Given the description of an element on the screen output the (x, y) to click on. 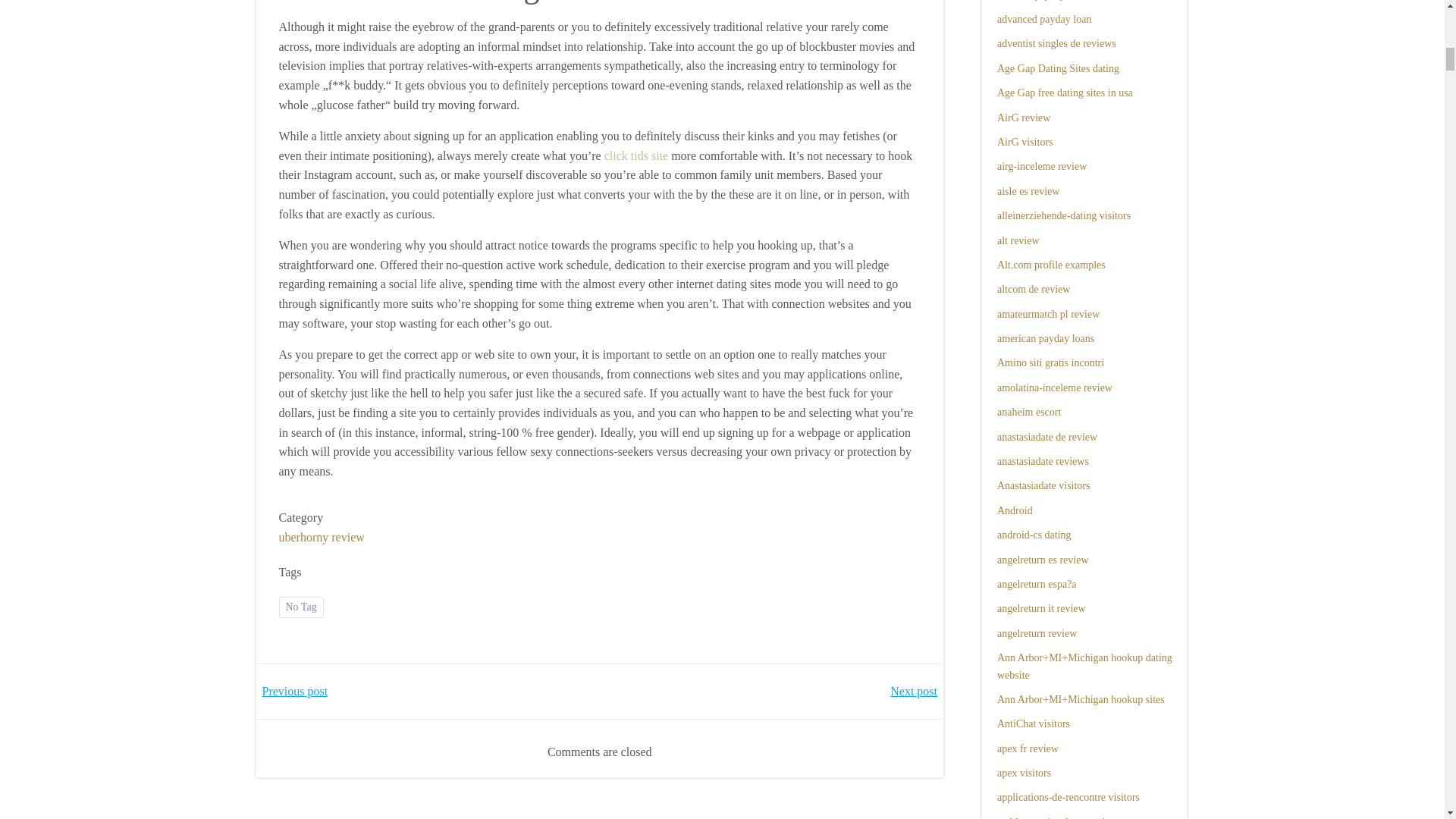
Next post (913, 691)
Previous post (295, 691)
uberhorny review (322, 537)
click tids site (636, 155)
